Given the description of an element on the screen output the (x, y) to click on. 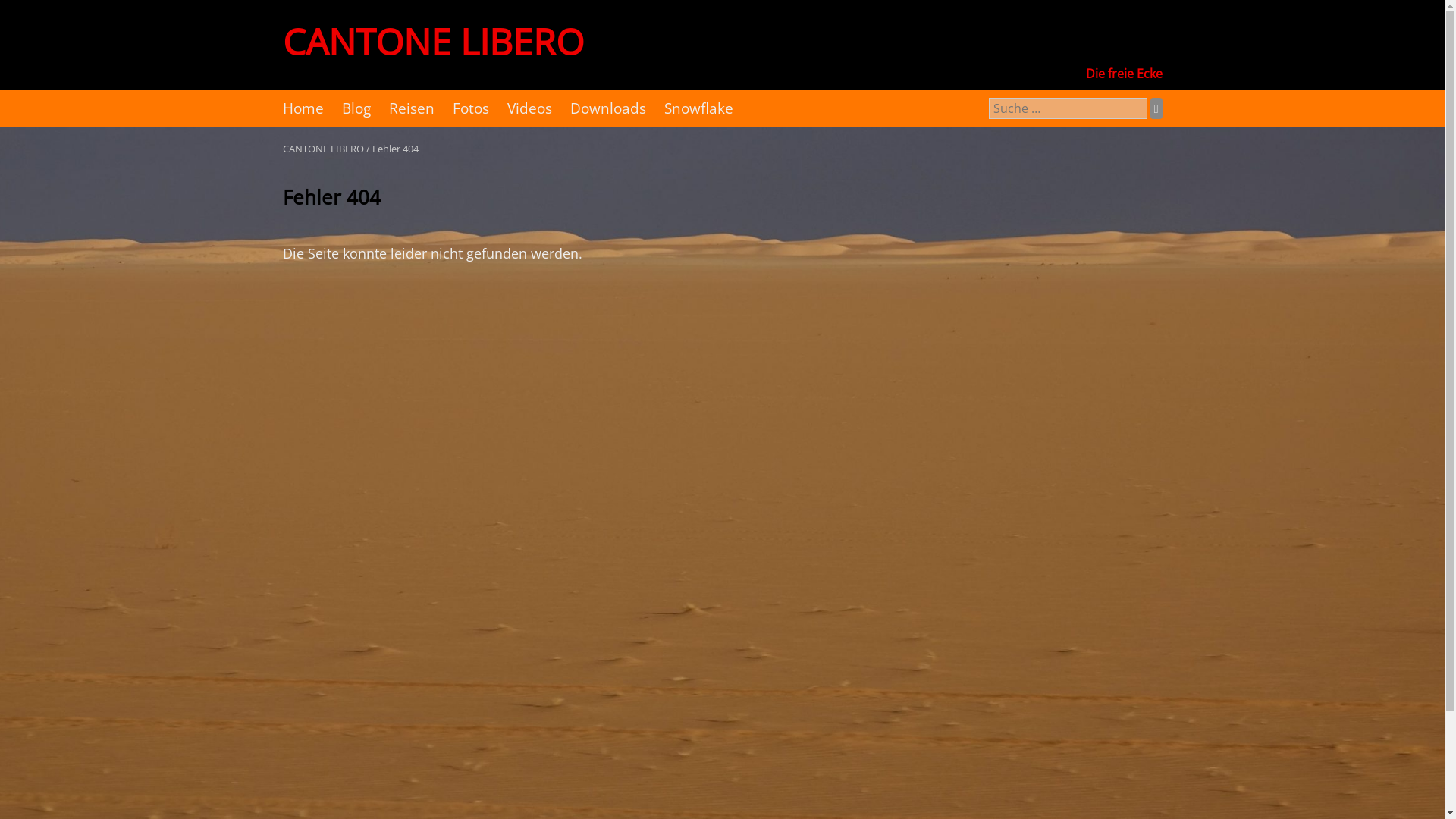
Videos Element type: text (528, 108)
Snowflake Element type: text (698, 108)
CANTONE LIBERO Element type: text (322, 148)
CANTONE LIBERO Element type: text (432, 40)
Fotos Element type: text (469, 108)
Blog Element type: text (355, 108)
Downloads Element type: text (608, 108)
Home Element type: text (302, 108)
Reisen Element type: text (410, 108)
